Given the description of an element on the screen output the (x, y) to click on. 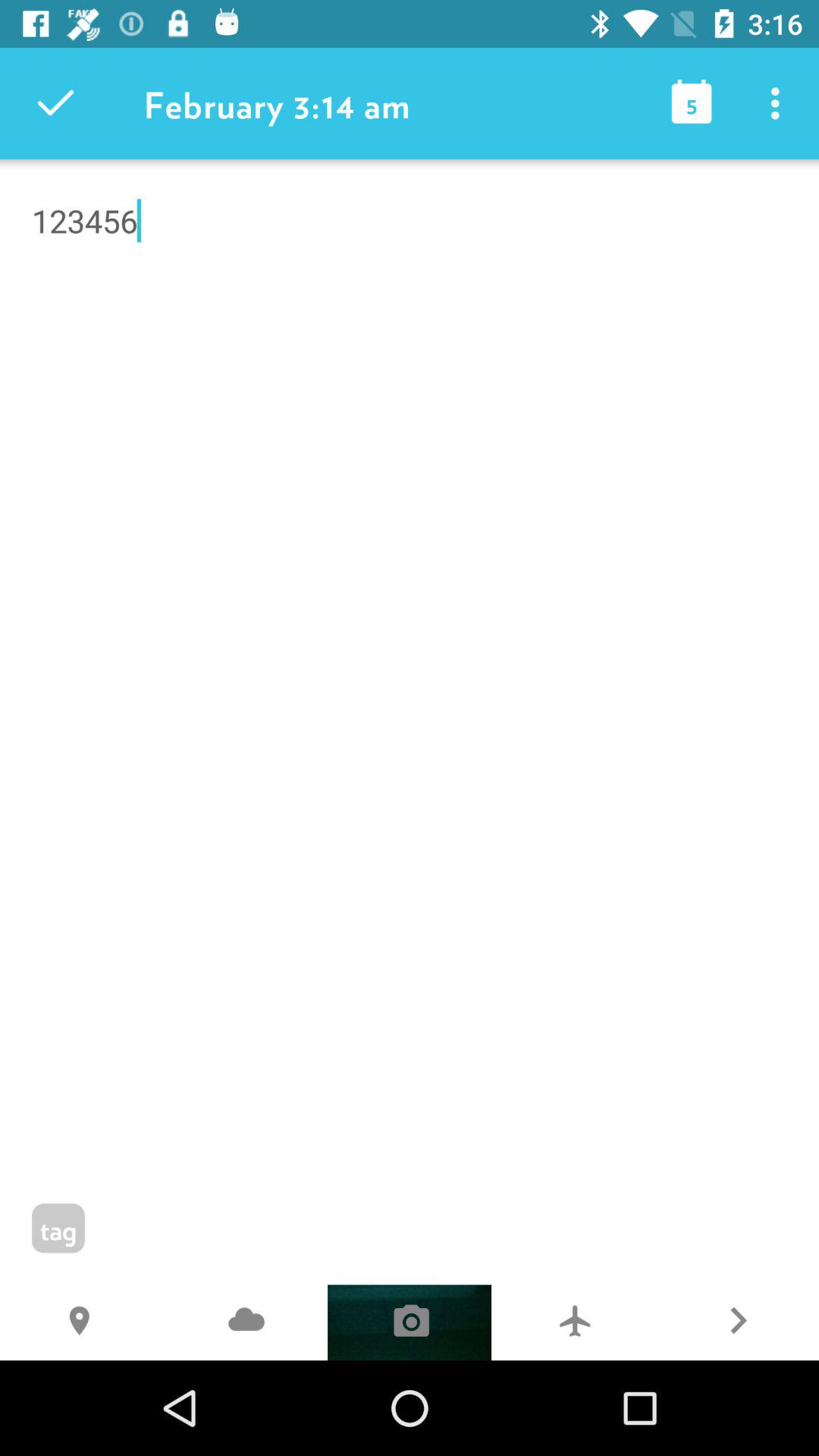
press the icon below 123456 (245, 1322)
